Given the description of an element on the screen output the (x, y) to click on. 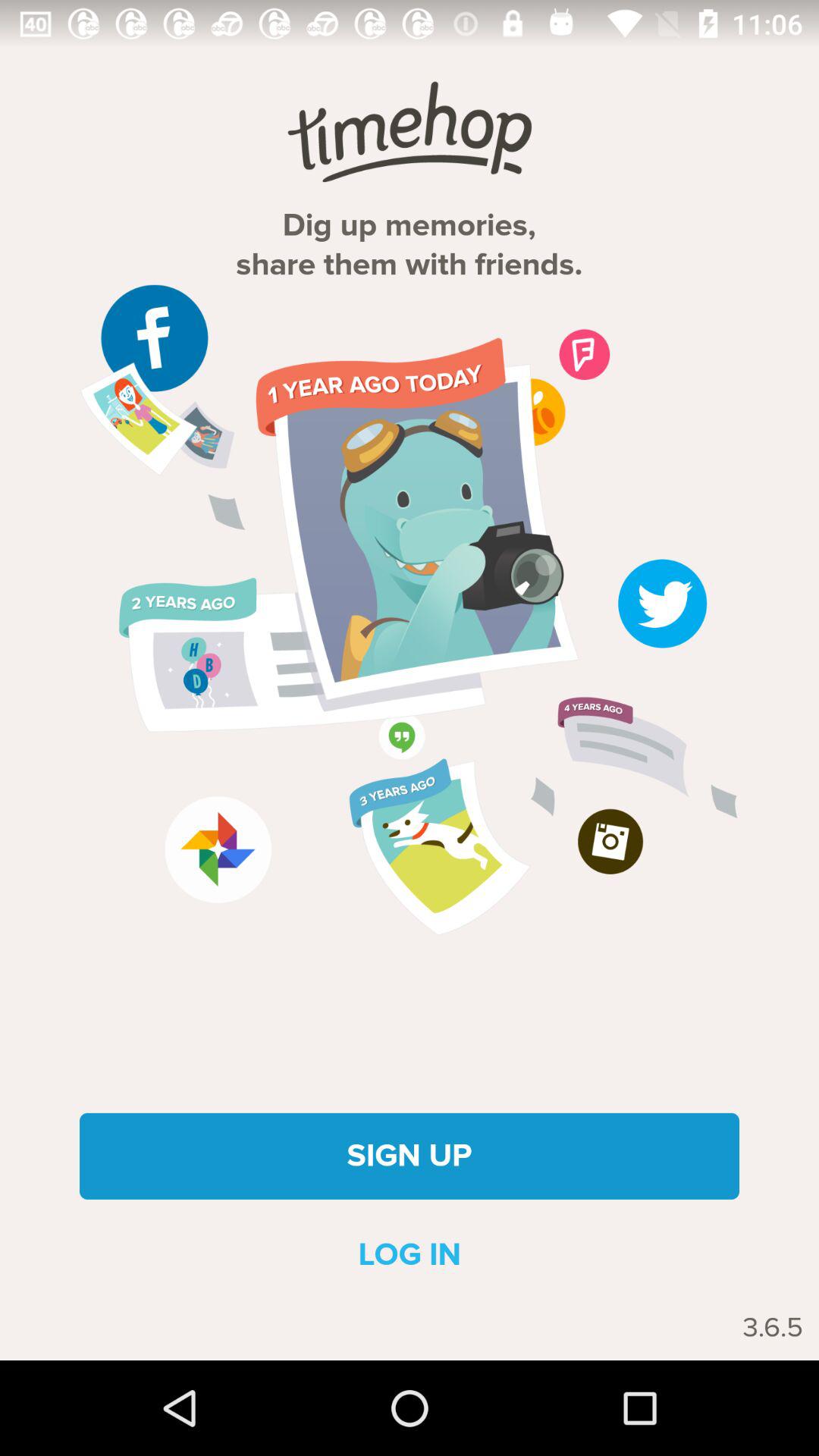
choose the log in icon (409, 1255)
